Given the description of an element on the screen output the (x, y) to click on. 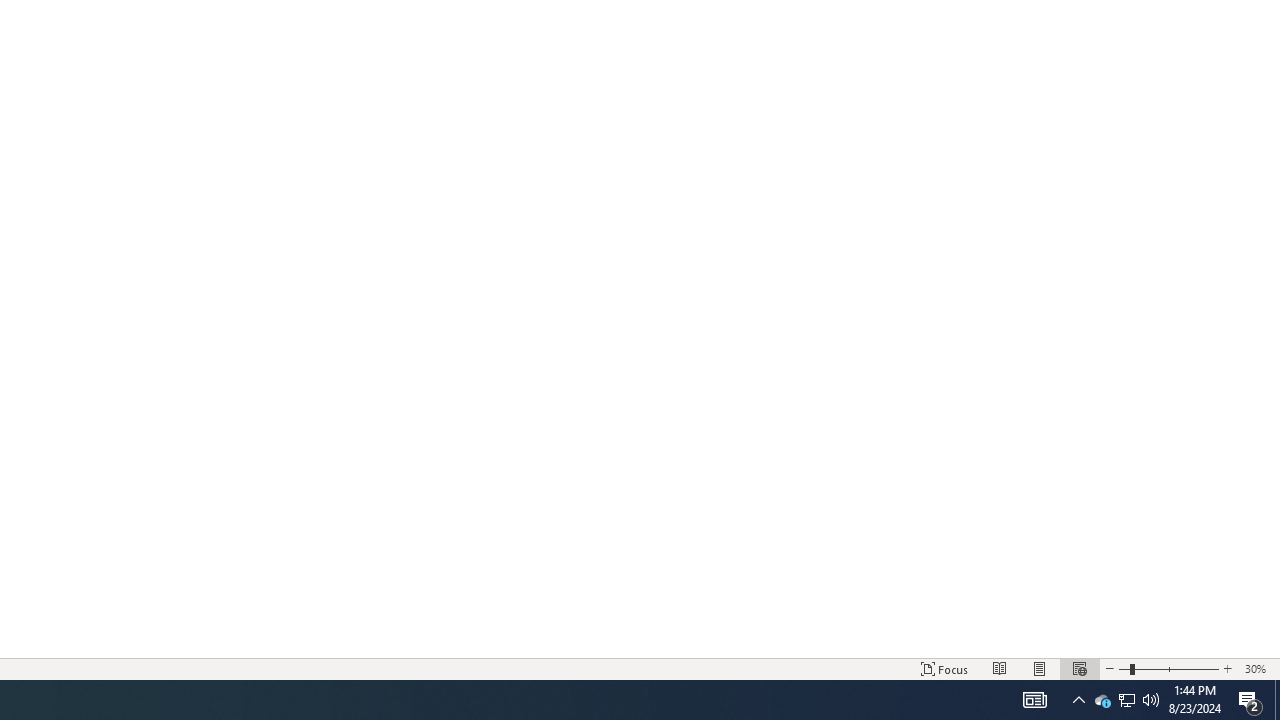
Read Mode (1000, 668)
Print Layout (1039, 668)
Zoom Out (1124, 668)
Zoom (1168, 668)
Web Layout (1079, 668)
Zoom 30% (1258, 668)
Zoom In (1227, 668)
Focus  (944, 668)
